Given the description of an element on the screen output the (x, y) to click on. 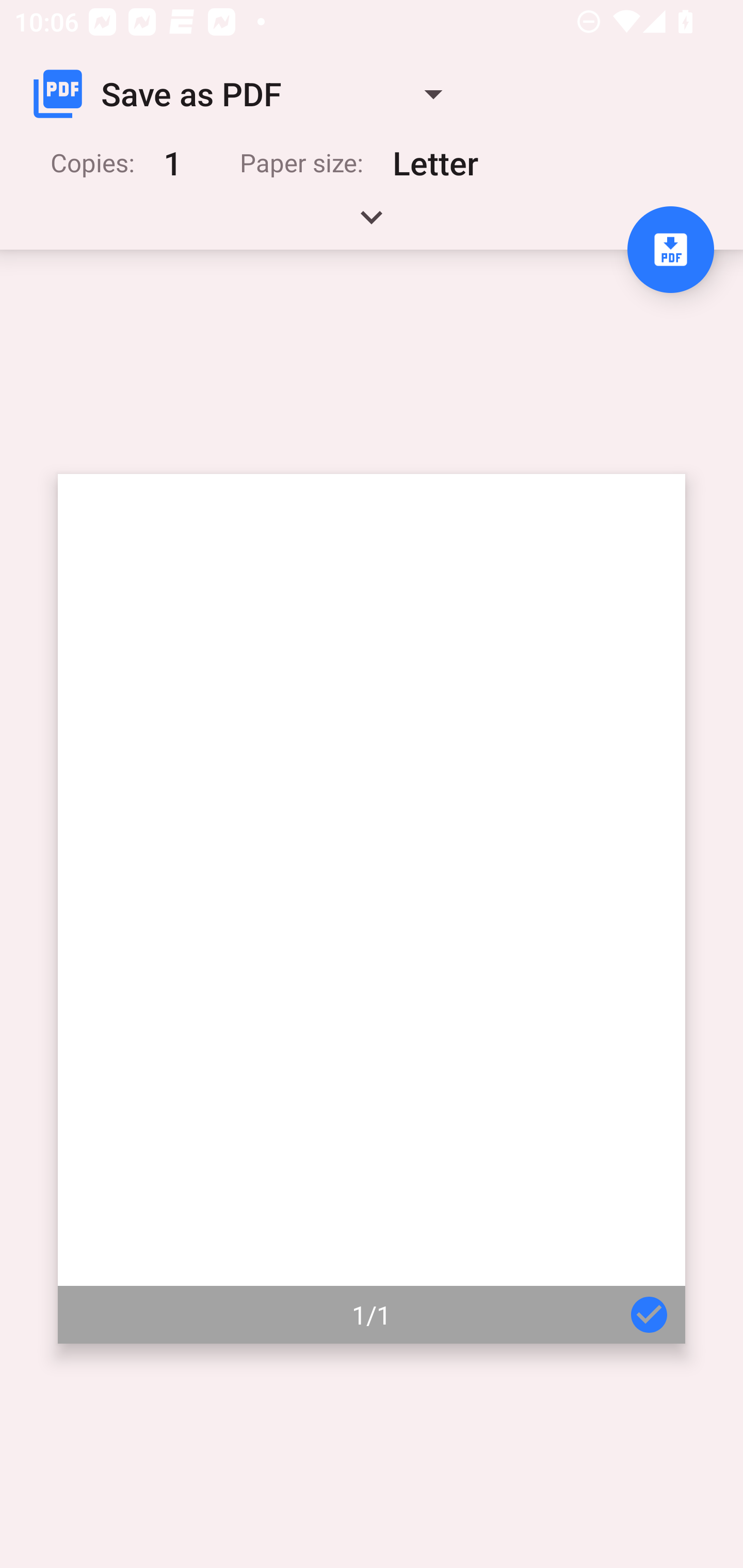
Save as PDF (245, 93)
Expand handle (371, 224)
Save to PDF (670, 249)
Page 1 of 1 1/1 (371, 908)
